Given the description of an element on the screen output the (x, y) to click on. 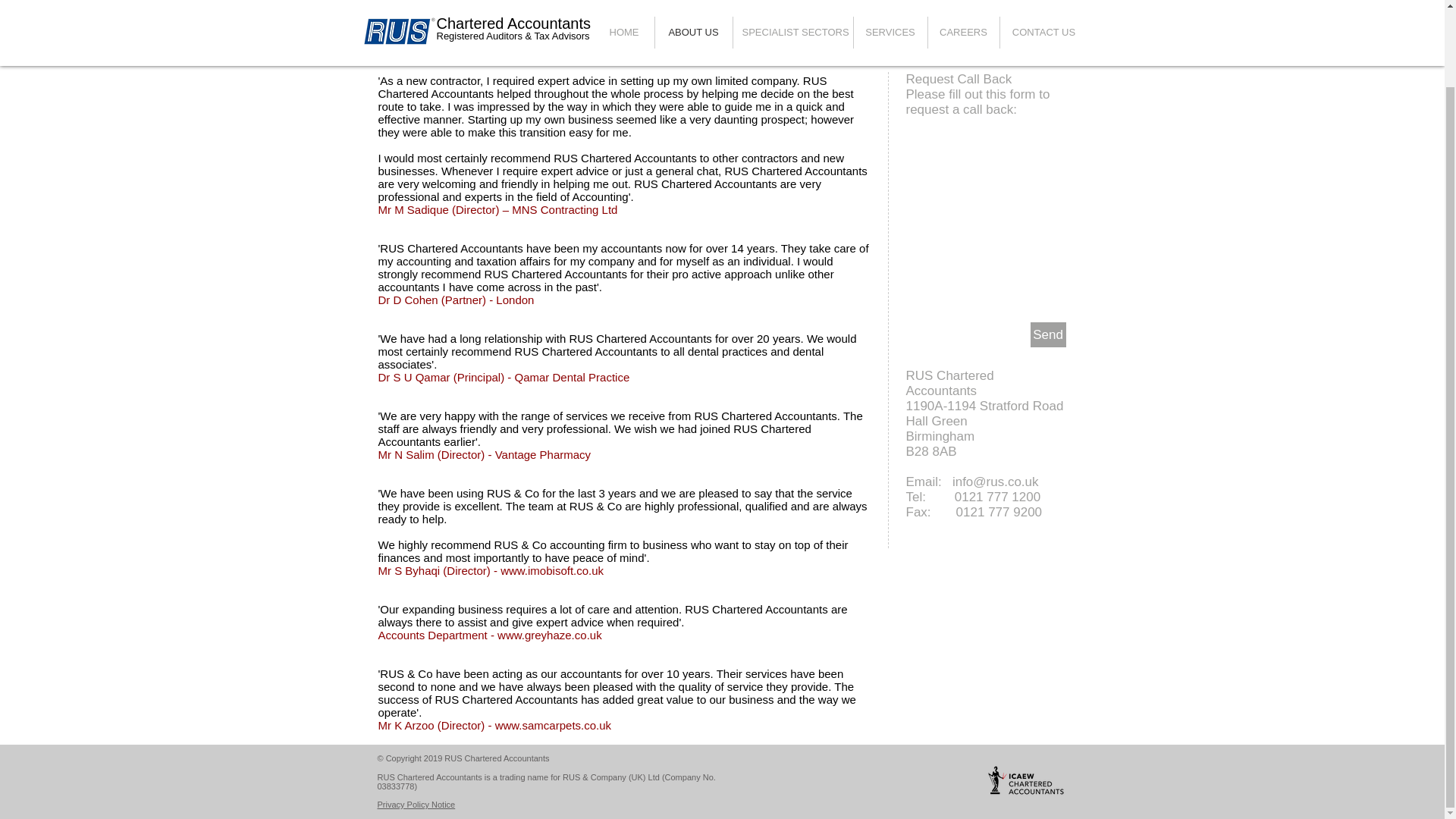
Send (1047, 334)
www.greyhaze.co.uk (549, 634)
www.samcarpets.co.uk (553, 725)
www.imobisoft.co.uk (552, 570)
About Us (520, 39)
Home (470, 39)
Privacy Policy Notice (416, 804)
